Given the description of an element on the screen output the (x, y) to click on. 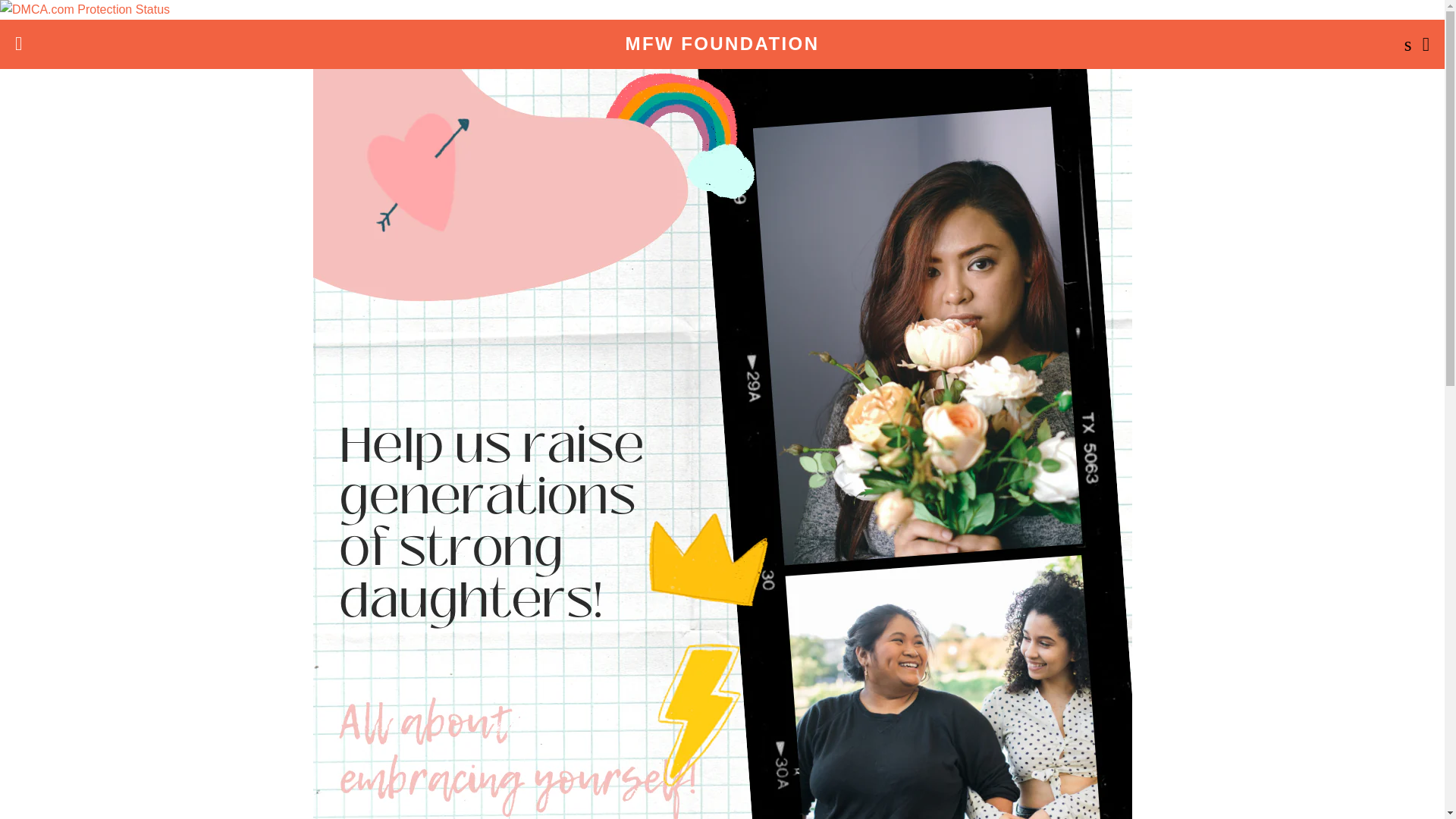
DMCA.com Protection Status (85, 9)
MFW FOUNDATION (722, 43)
